Given the description of an element on the screen output the (x, y) to click on. 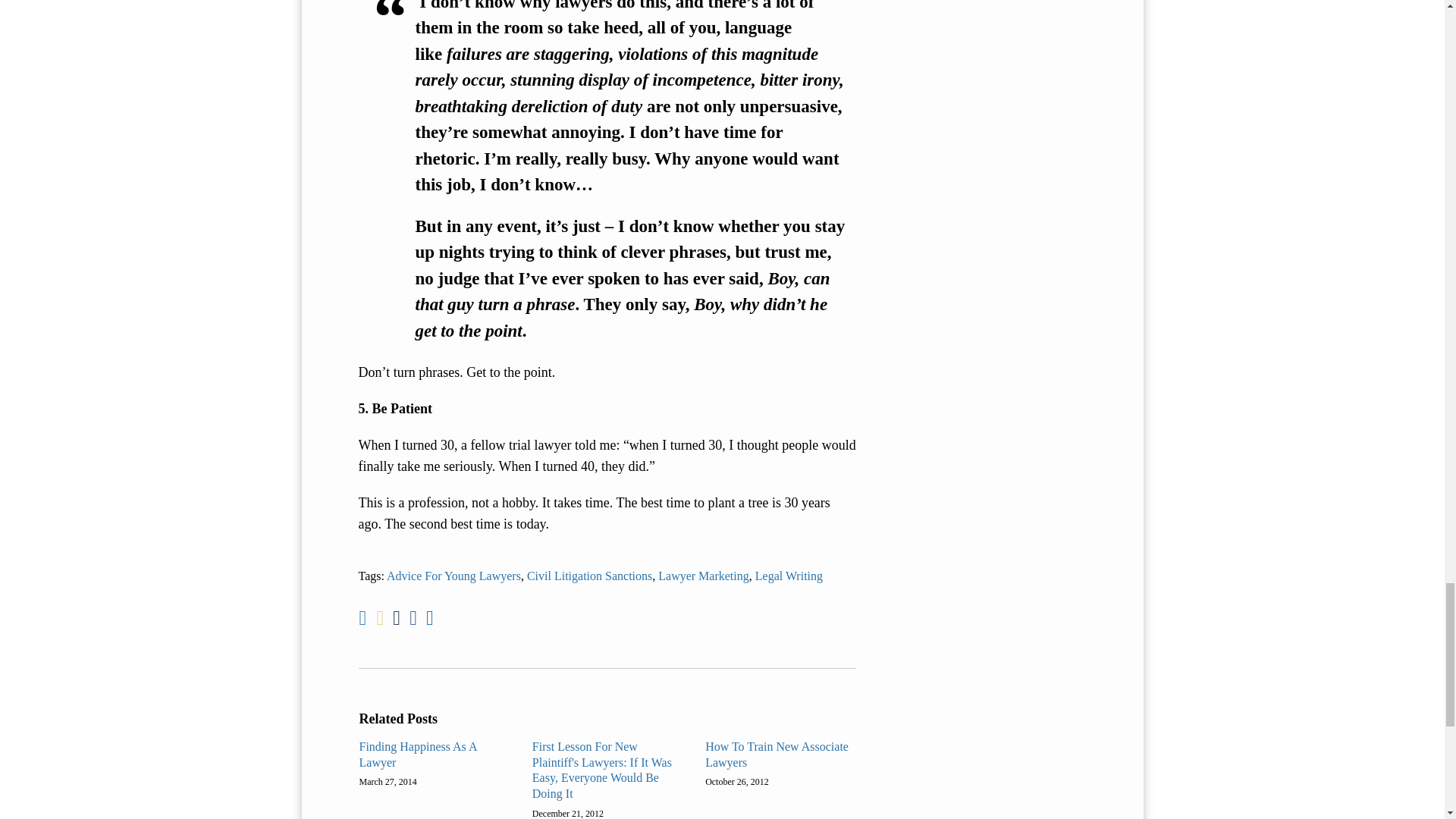
Finding Happiness As A Lawyer (434, 755)
Lawyer Marketing (703, 575)
Advice For Young Lawyers (454, 575)
Civil Litigation Sanctions (589, 575)
Legal Writing (788, 575)
How To Train New Associate Lawyers (780, 755)
